Given the description of an element on the screen output the (x, y) to click on. 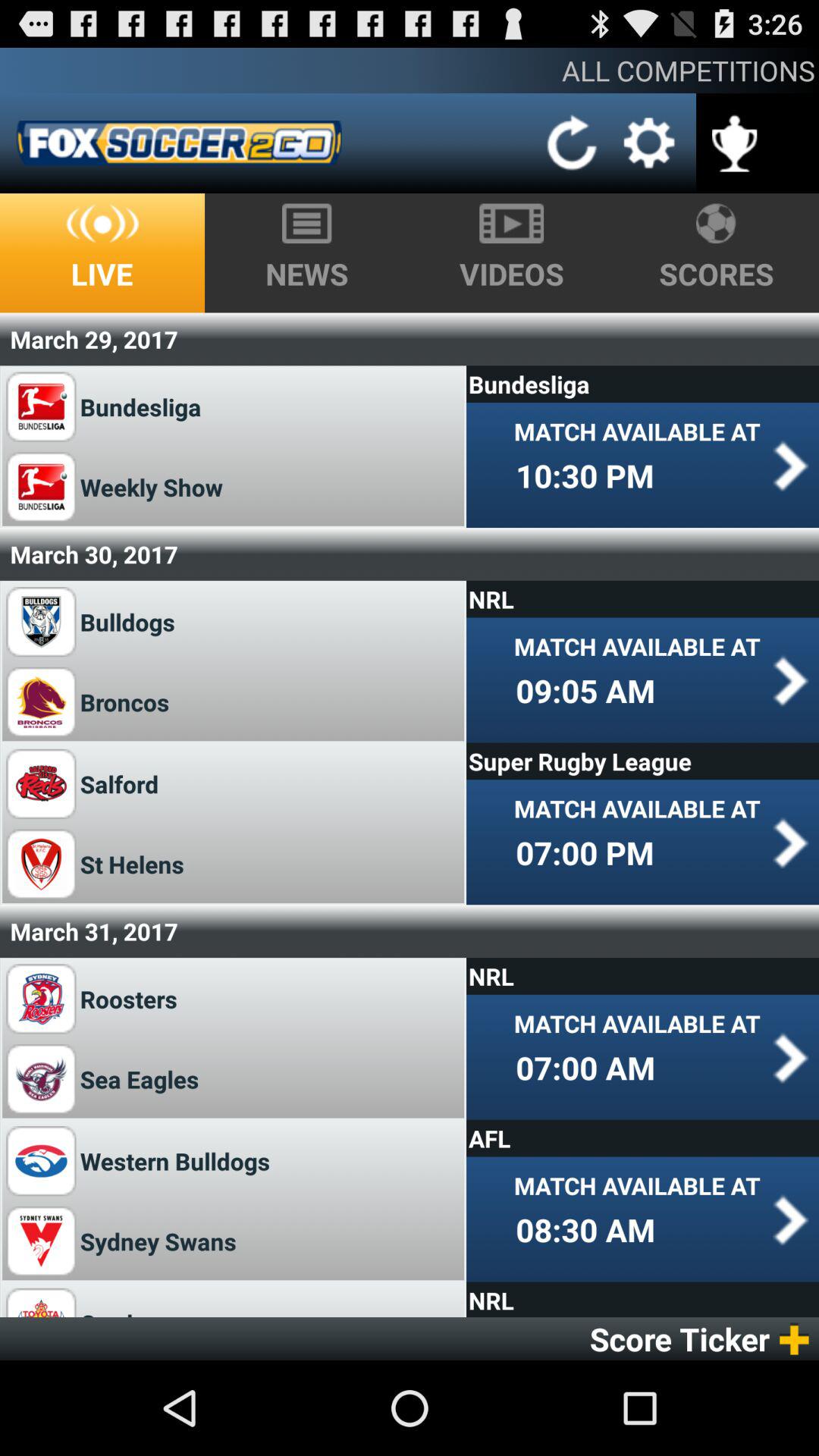
swipe until the sea eagles   item (145, 1079)
